Given the description of an element on the screen output the (x, y) to click on. 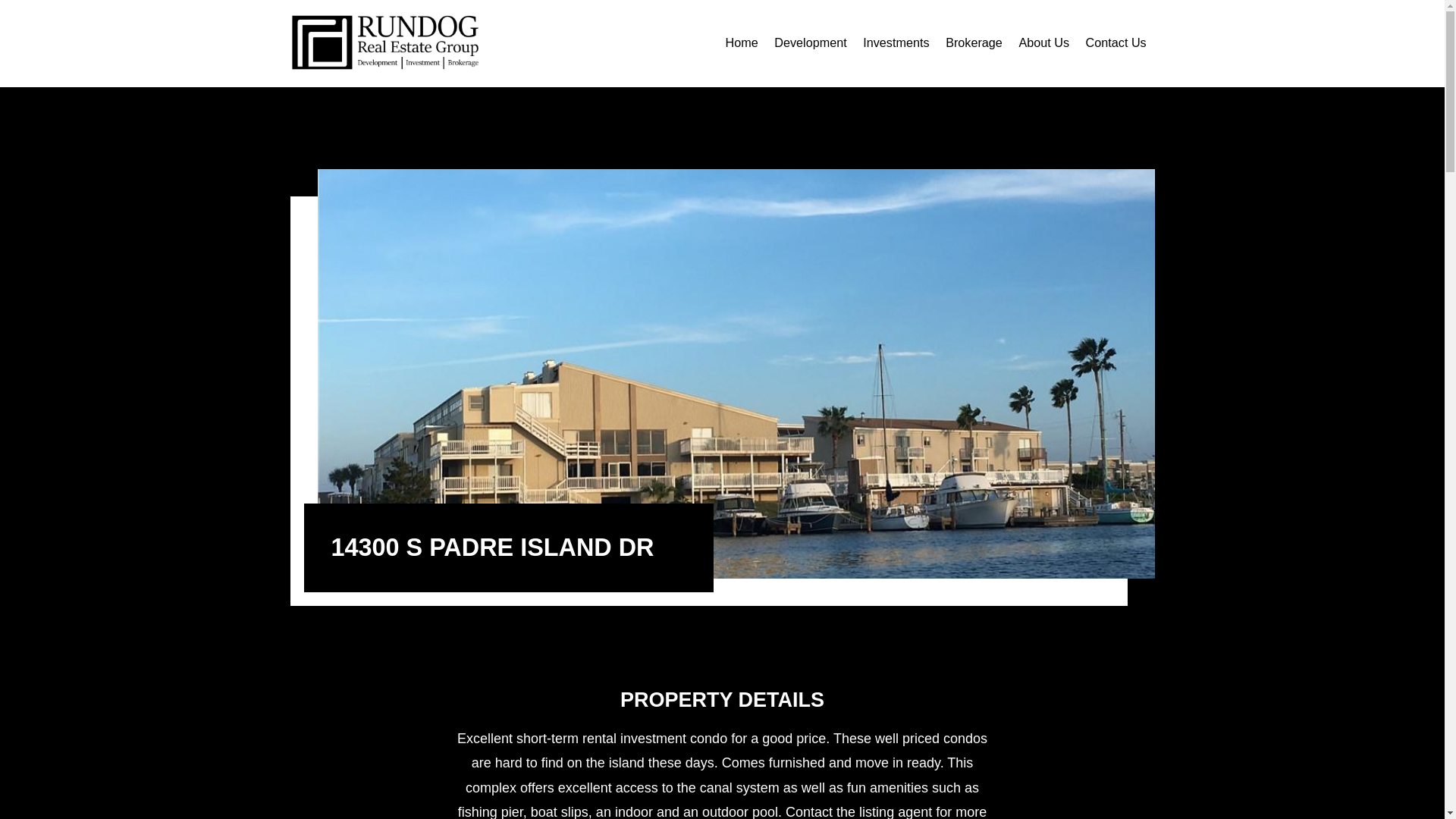
Brokerage (973, 43)
About Us (1043, 43)
Contact Us (1115, 43)
Home (742, 43)
Investments (895, 43)
Contact Us (1115, 43)
Brokerage (973, 43)
Home (742, 43)
About Us (1043, 43)
Investments (895, 43)
Development (809, 43)
Development (809, 43)
